Given the description of an element on the screen output the (x, y) to click on. 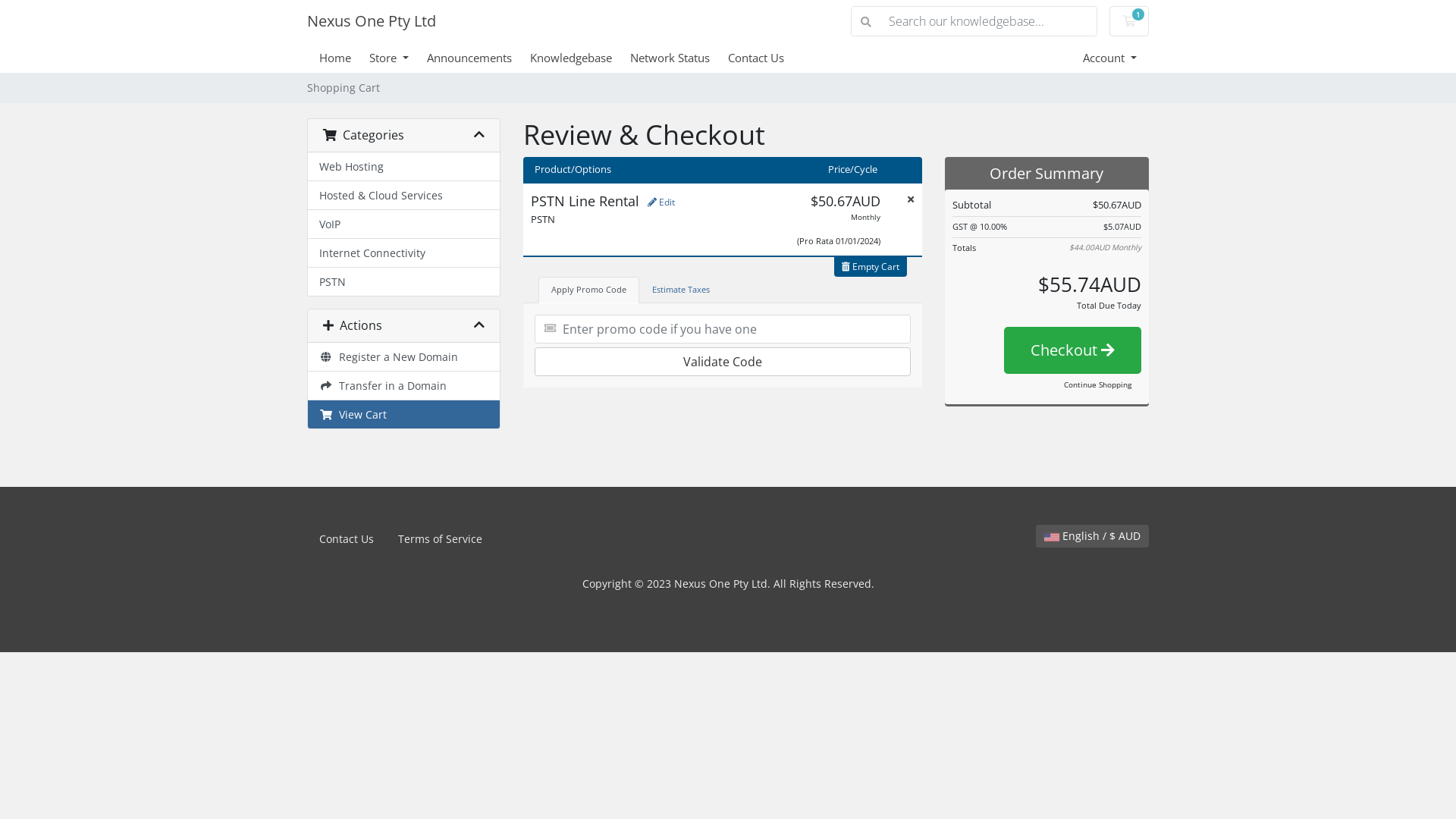
Validate Code Element type: text (722, 361)
Hosted & Cloud Services Element type: text (403, 195)
English / $ AUD Element type: text (1091, 535)
Internet Connectivity Element type: text (403, 252)
Account Element type: text (1109, 57)
Announcements Element type: text (478, 57)
Edit Element type: text (661, 202)
Contact Us Element type: text (765, 57)
Network Status Element type: text (679, 57)
Terms of Service Element type: text (439, 538)
  Register a New Domain Element type: text (403, 356)
PSTN Element type: text (403, 281)
Apply Promo Code Element type: text (588, 289)
Web Hosting Element type: text (403, 166)
Nexus One Pty Ltd Element type: text (371, 21)
Store Element type: text (397, 57)
Home Element type: text (344, 57)
Empty Cart Element type: text (870, 266)
  View Cart Element type: text (403, 414)
Knowledgebase Element type: text (580, 57)
VoIP Element type: text (403, 224)
Contact Us Element type: text (346, 538)
Estimate Taxes Element type: text (680, 289)
  Transfer in a Domain Element type: text (403, 385)
1
Shopping Cart Element type: text (1128, 21)
Continue Shopping Element type: text (1097, 384)
Checkout Element type: text (1072, 349)
